Given the description of an element on the screen output the (x, y) to click on. 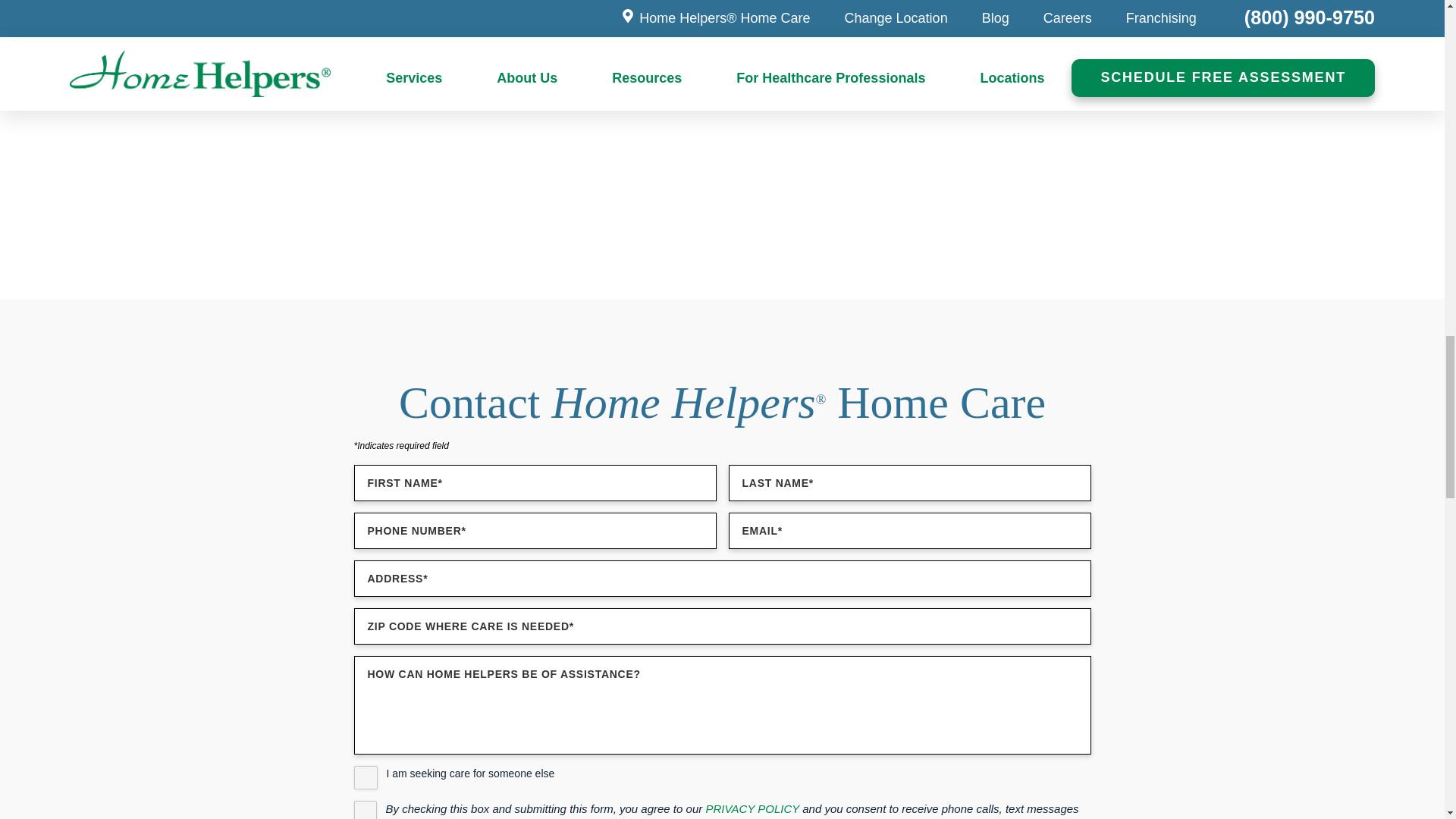
1 (364, 809)
Yes (365, 777)
